Given the description of an element on the screen output the (x, y) to click on. 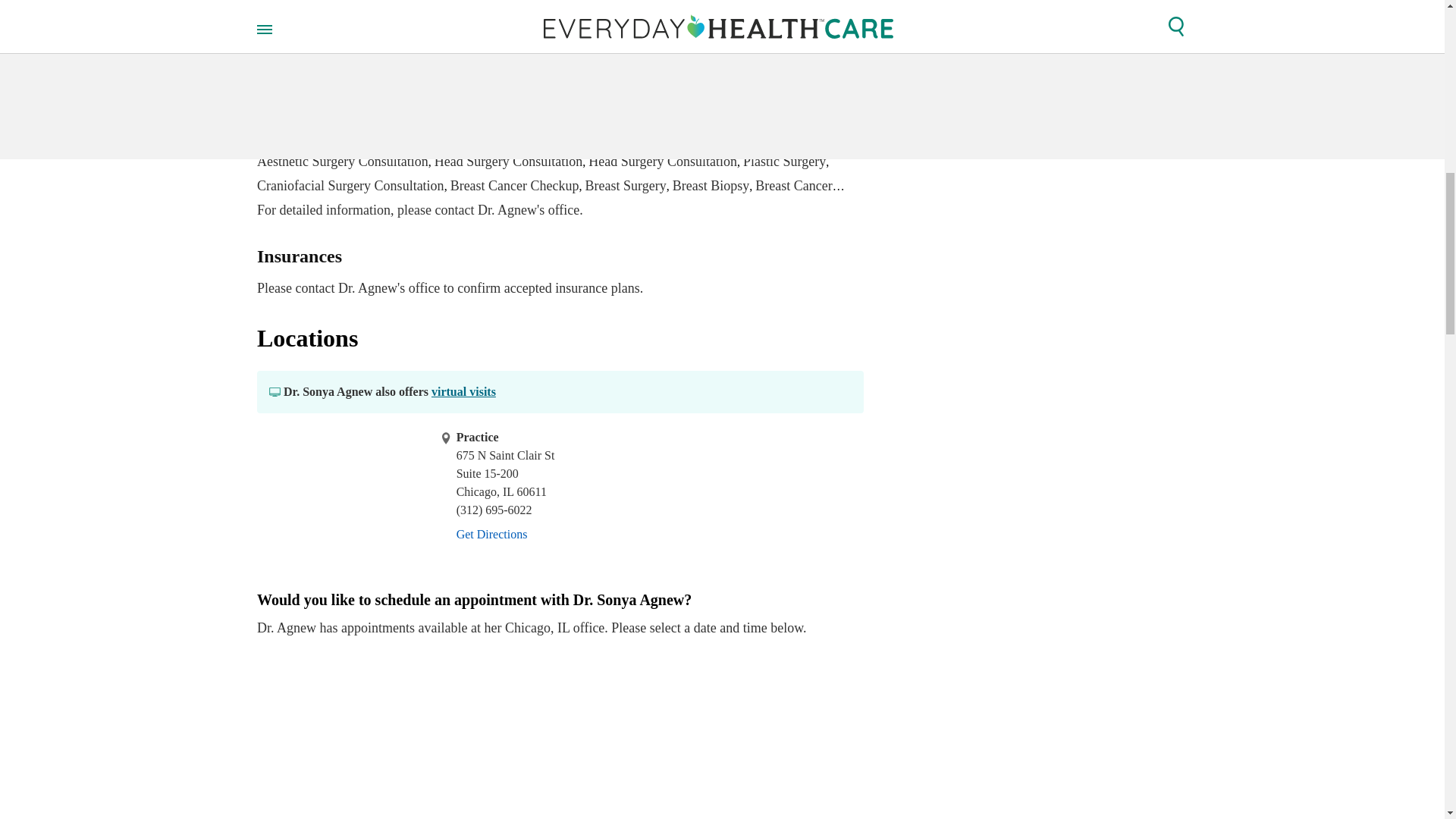
Head Surgery Consultation (662, 160)
Neck Surgery Consultation (528, 76)
Craniofacial Surgery Consultation (350, 185)
Breast Microsurgery (583, 112)
Plastic Surgery Consultation (335, 64)
Skin Grafts (368, 112)
Aesthetic Surgery Consultation (342, 160)
Face Surgery Consultation (767, 136)
Microsurgery (294, 112)
Breast Cancer Checkup (514, 185)
Neck Surgery Consultation (561, 88)
Head Surgery Consultation (614, 136)
Head Surgery Consultation (407, 88)
